Given the description of an element on the screen output the (x, y) to click on. 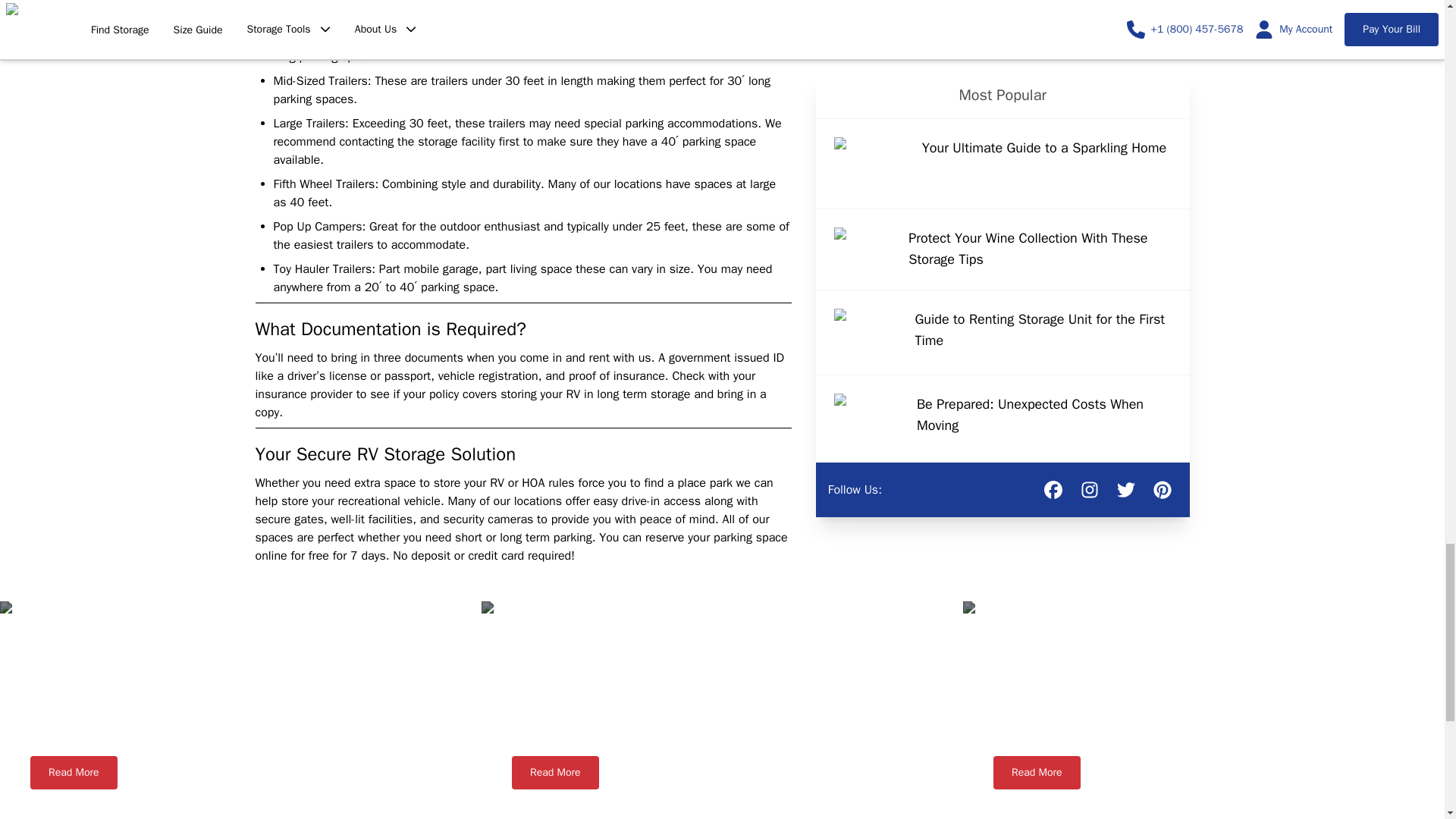
Read More (73, 772)
Read More (1036, 772)
Read More (555, 772)
